Given the description of an element on the screen output the (x, y) to click on. 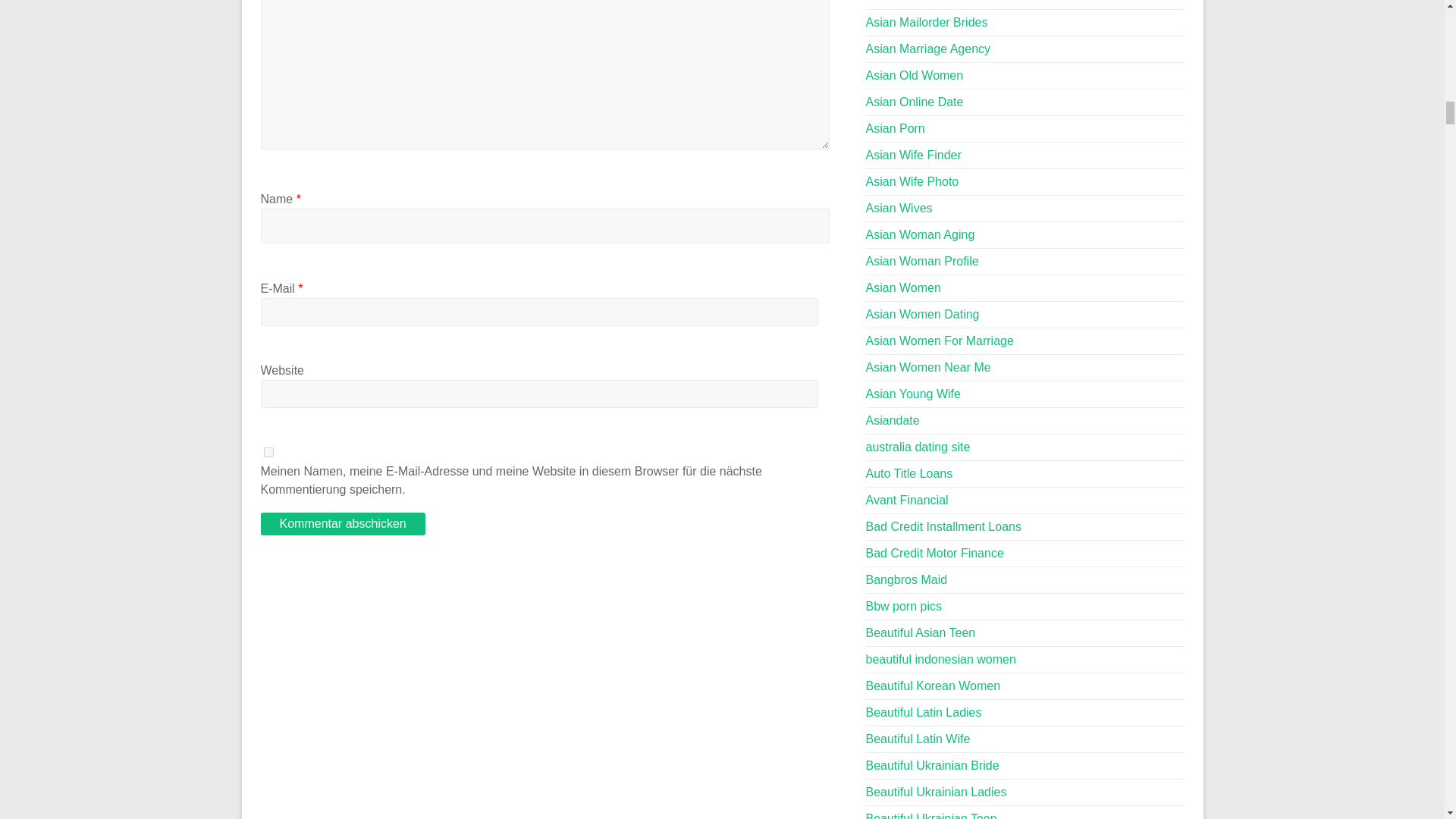
Kommentar abschicken (342, 523)
Kommentar abschicken (342, 523)
yes (268, 452)
